Given the description of an element on the screen output the (x, y) to click on. 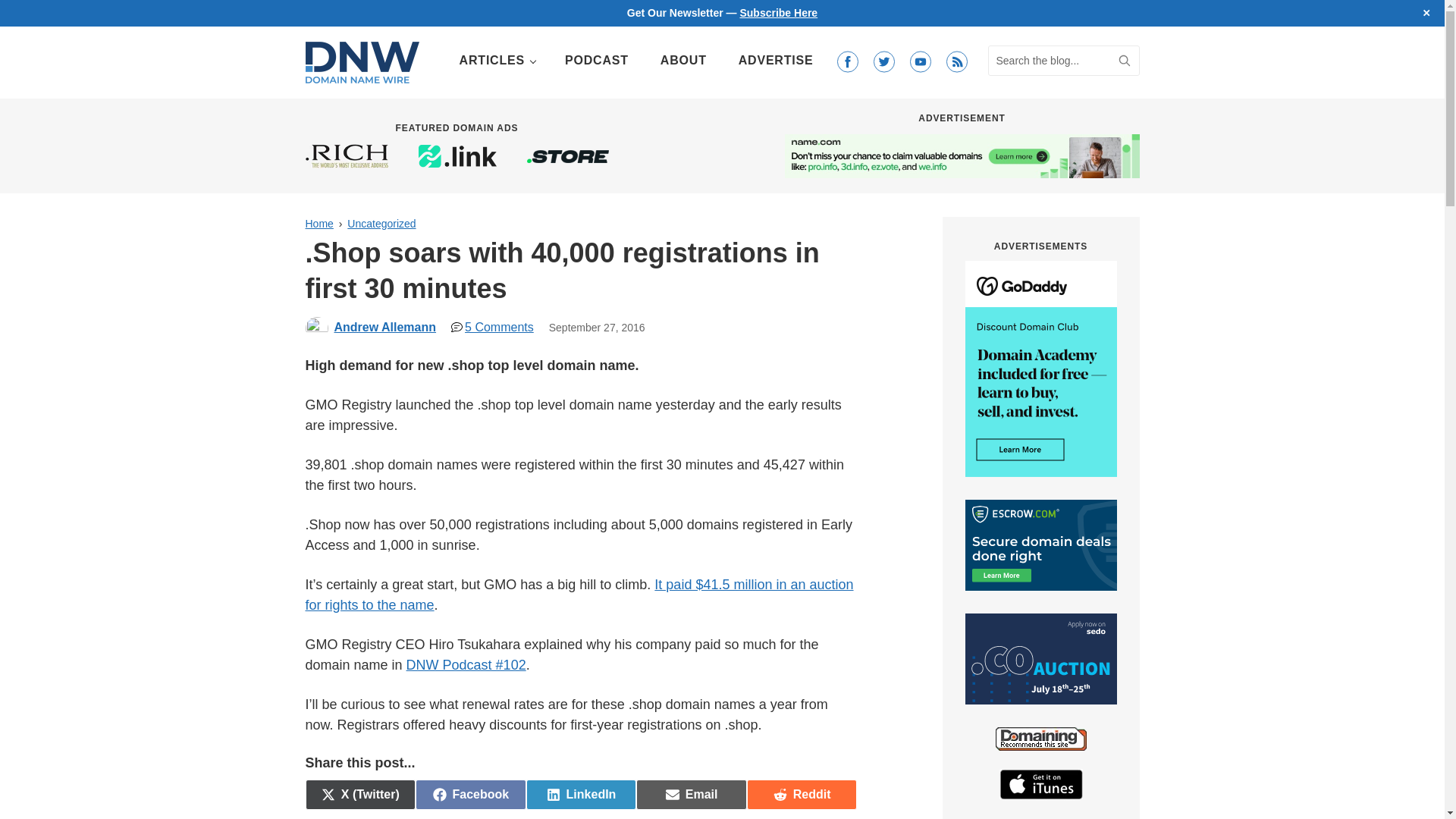
5 Comments (492, 327)
Uncategorized (380, 223)
Submit search (1123, 60)
Submit search (1123, 60)
ADVERTISE (581, 794)
PODCAST (775, 60)
ARTICLES (596, 60)
Home (495, 60)
Subscribe Here (318, 223)
Skip to primary navigation (777, 12)
ABOUT (469, 794)
Andrew Allemann (1123, 60)
